Given the description of an element on the screen output the (x, y) to click on. 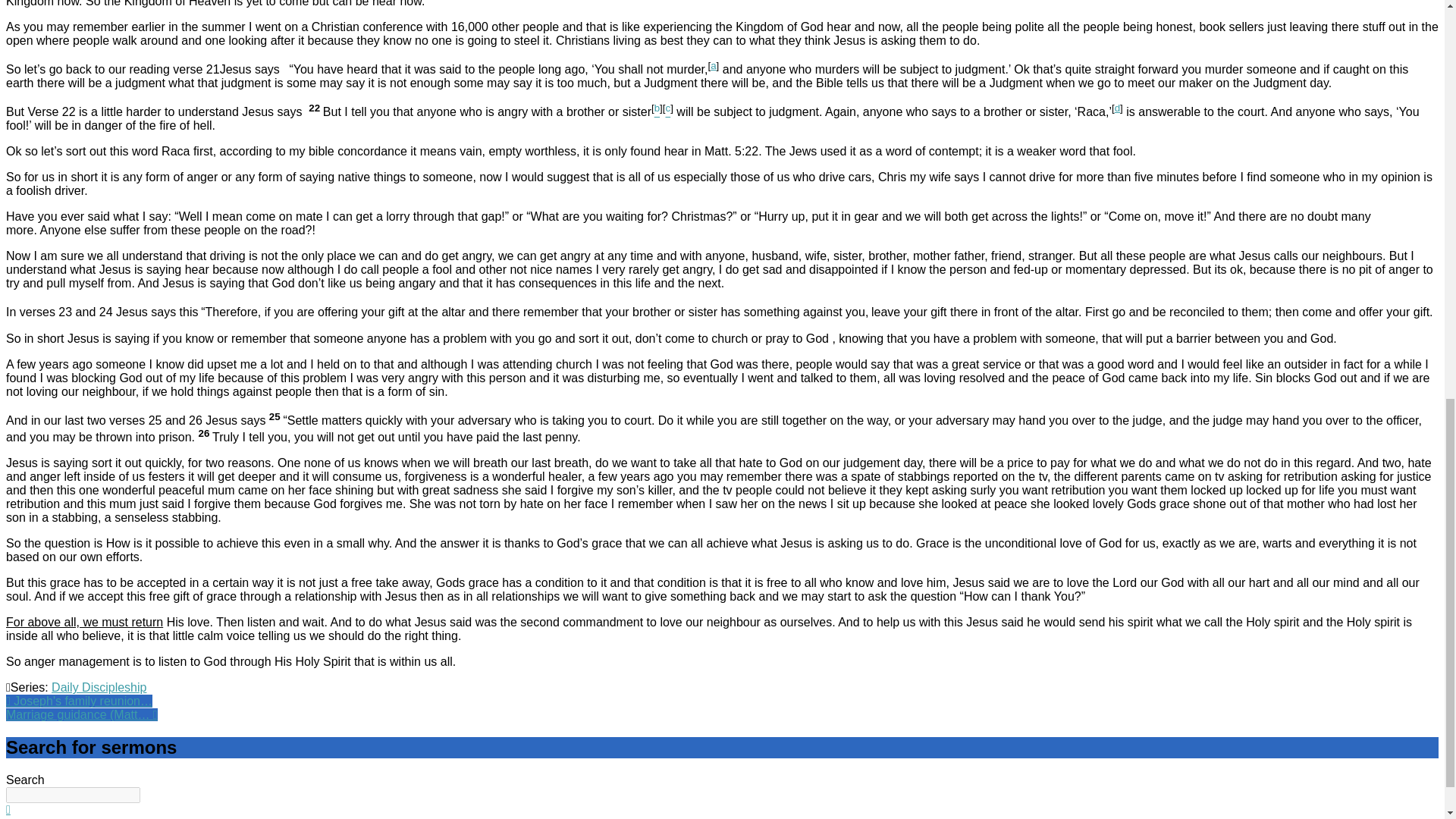
Daily Discipleship (98, 686)
